Given the description of an element on the screen output the (x, y) to click on. 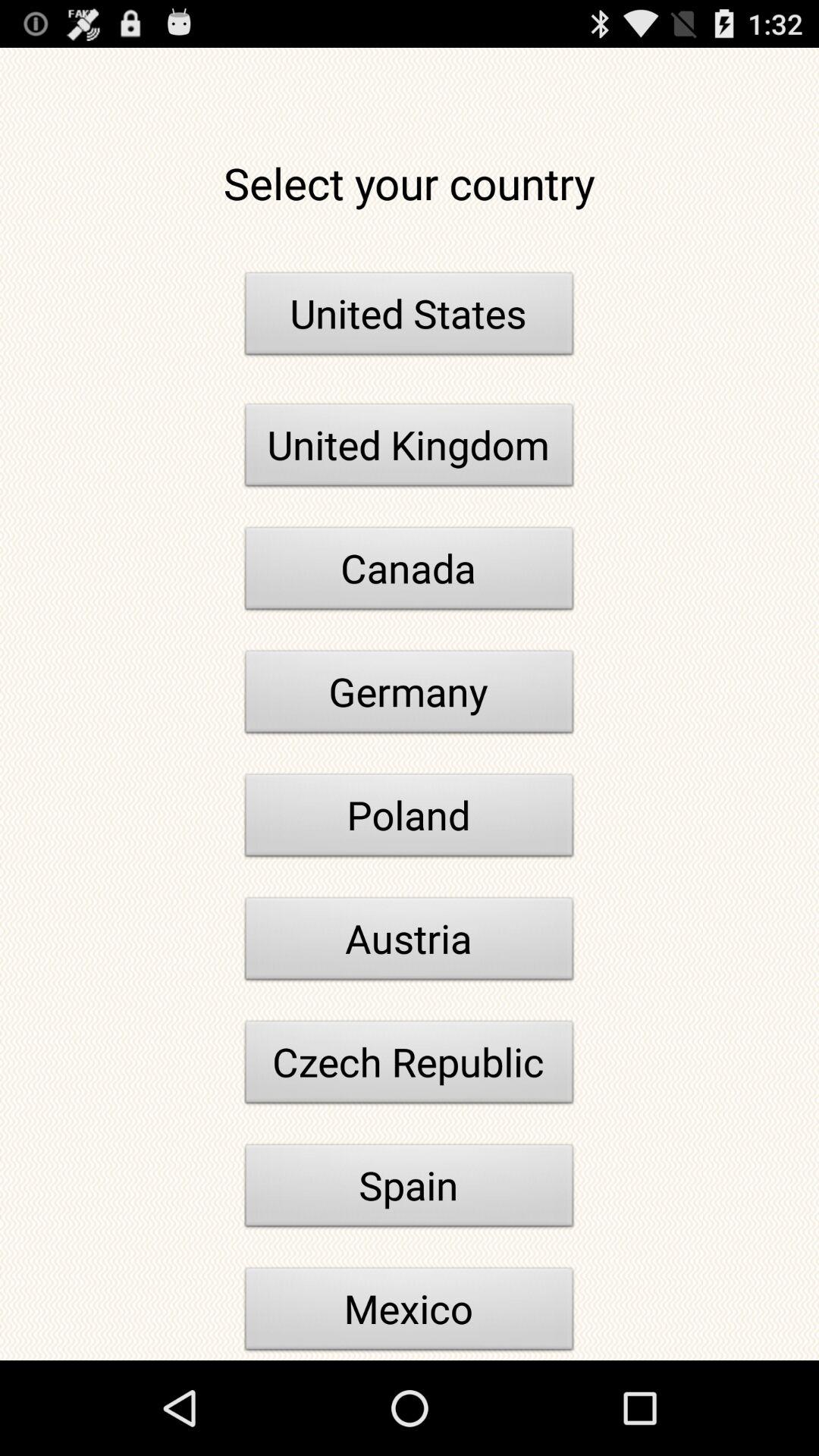
press icon above poland item (409, 695)
